Given the description of an element on the screen output the (x, y) to click on. 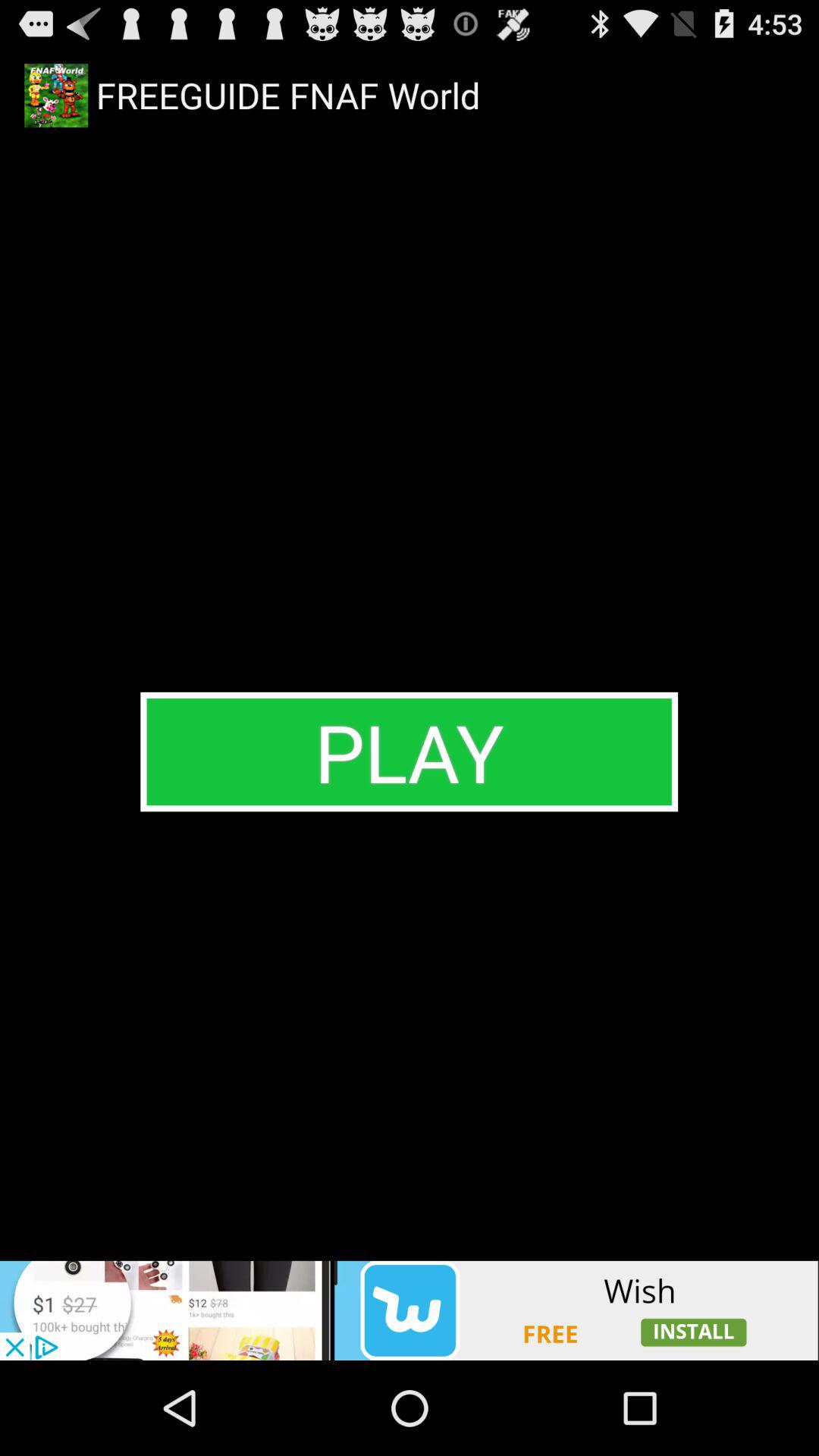
advertisement (409, 1310)
